Given the description of an element on the screen output the (x, y) to click on. 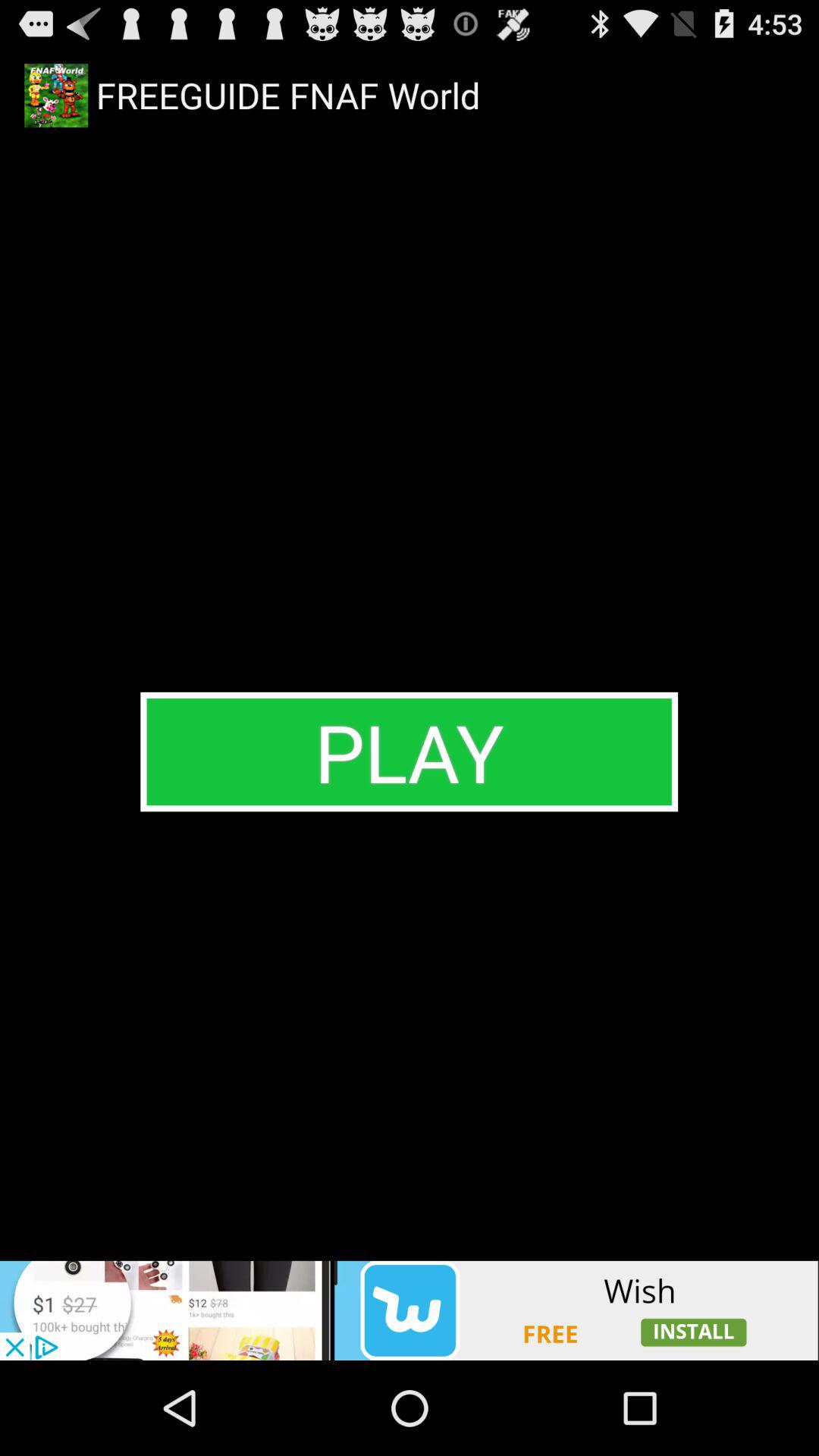
advertisement (409, 1310)
